Given the description of an element on the screen output the (x, y) to click on. 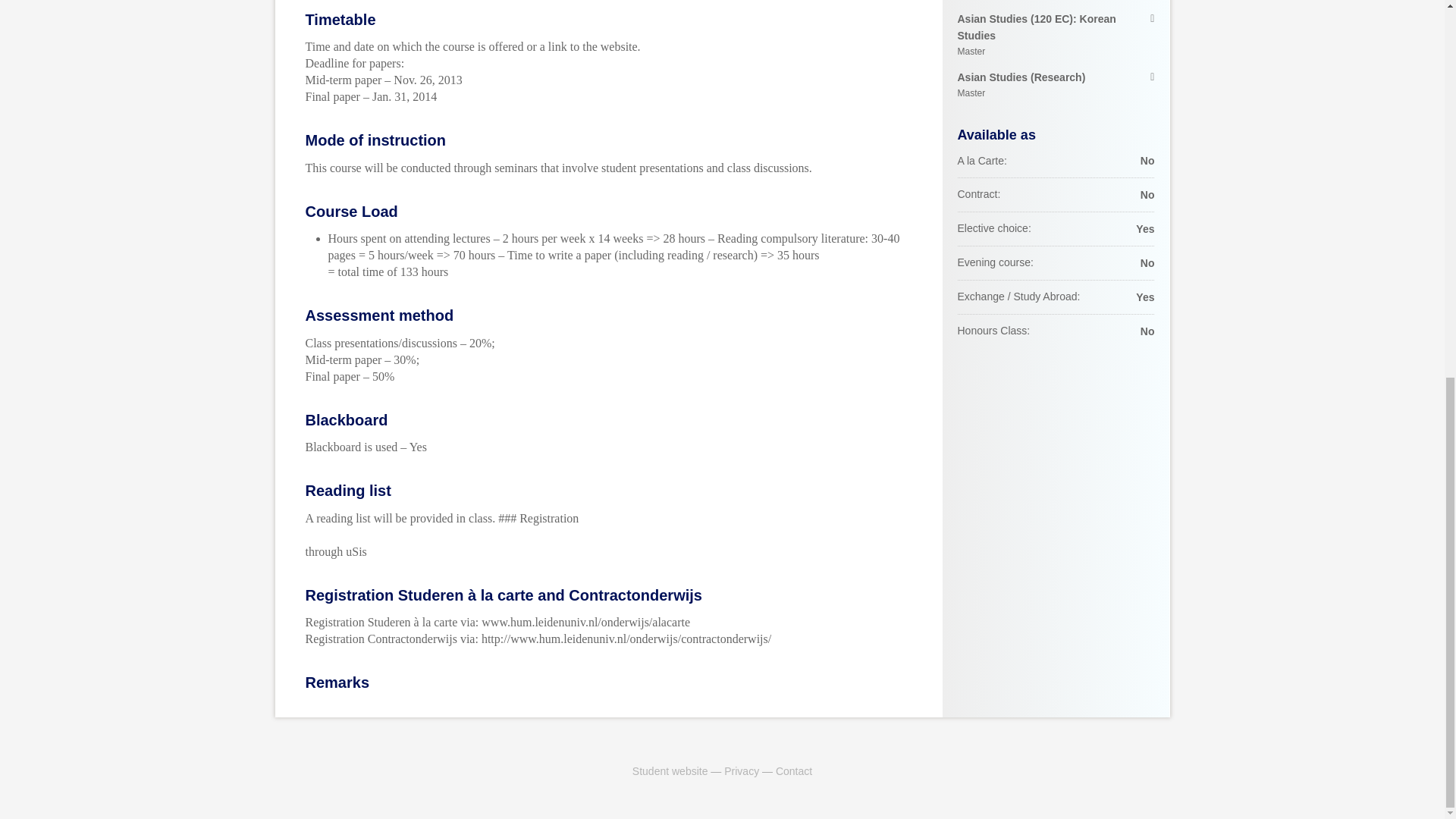
Contact (794, 770)
Student website (669, 770)
Privacy (740, 770)
